Given the description of an element on the screen output the (x, y) to click on. 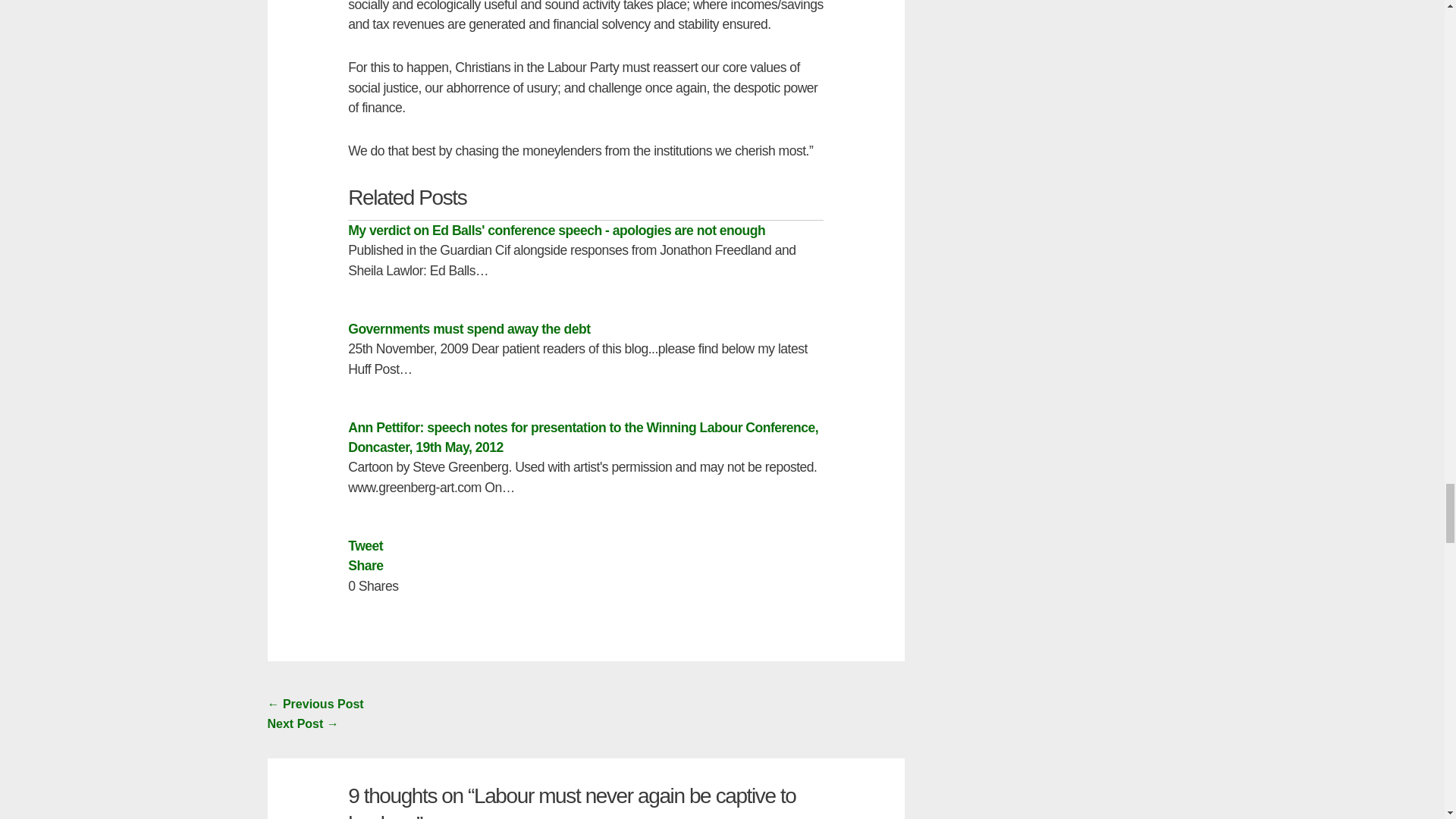
Join me in debunking deluded discipline of economics  (301, 723)
